Given the description of an element on the screen output the (x, y) to click on. 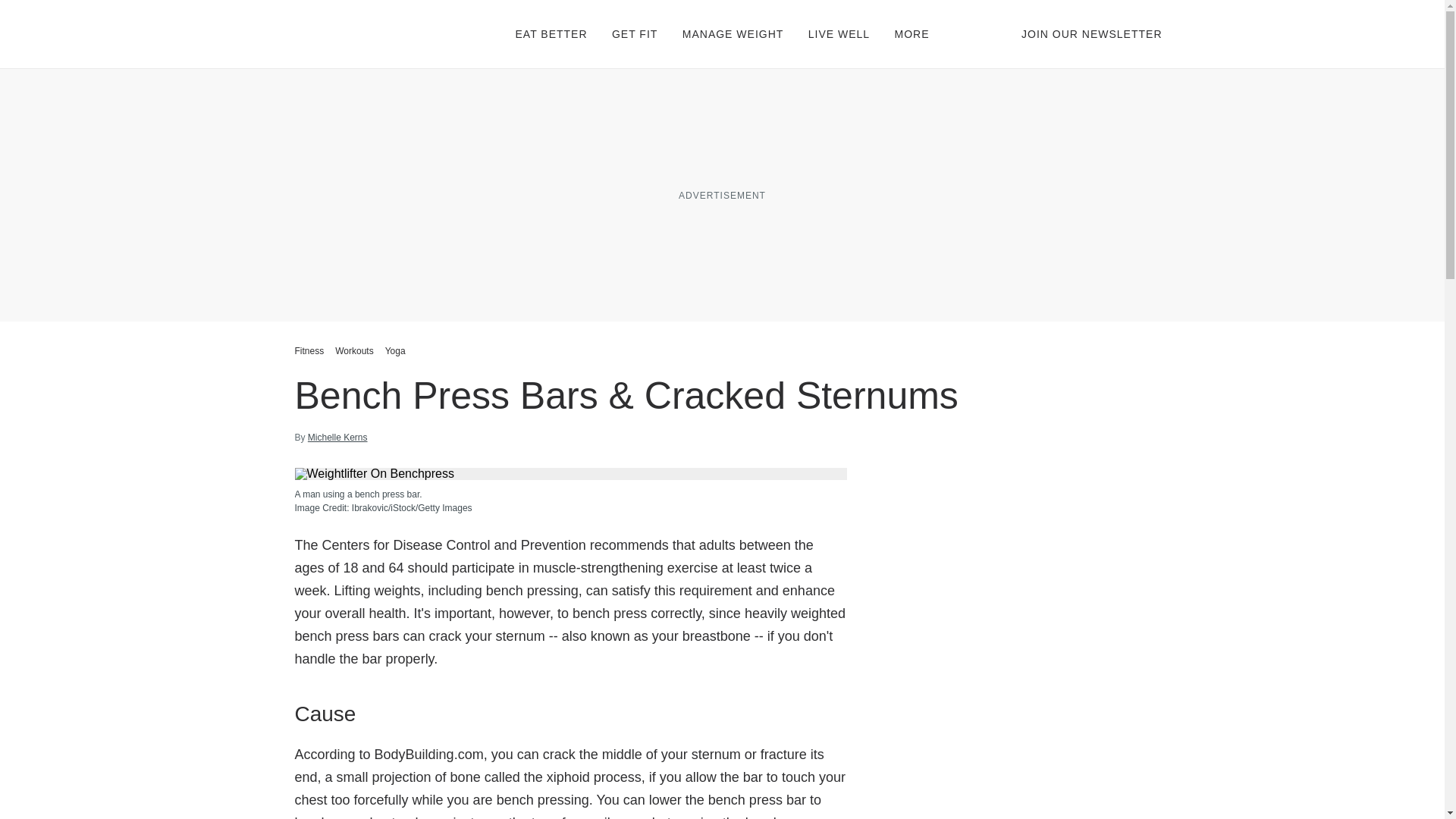
MANAGE WEIGHT (733, 33)
Fitness (310, 350)
GET FIT (634, 33)
LIVE WELL (838, 33)
Workouts (354, 350)
Michelle Kerns (337, 437)
JOIN OUR NEWSLETTER (1091, 33)
EAT BETTER (551, 33)
Yoga (395, 350)
